Given the description of an element on the screen output the (x, y) to click on. 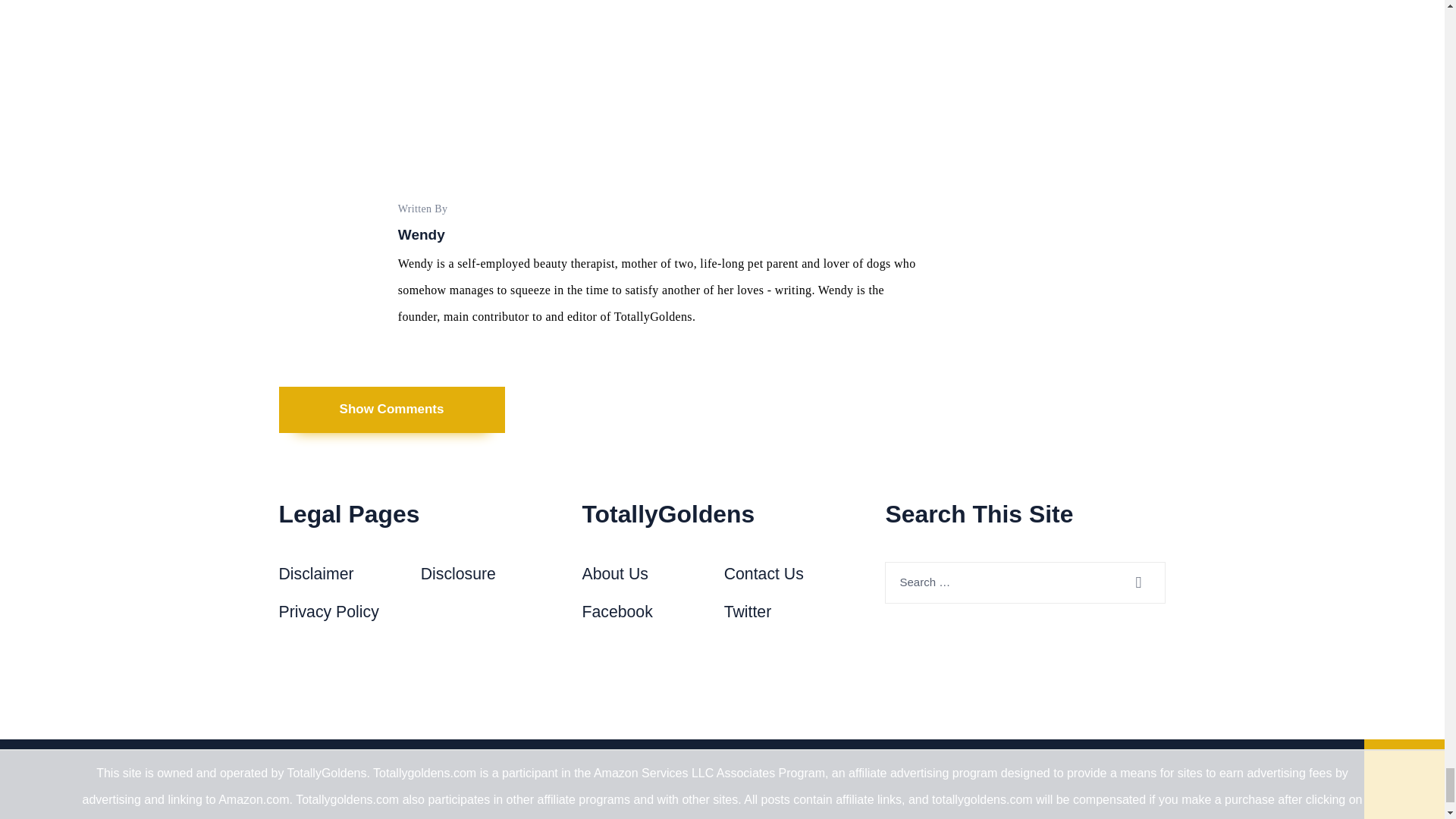
Search (1146, 582)
Search (1146, 582)
